Given the description of an element on the screen output the (x, y) to click on. 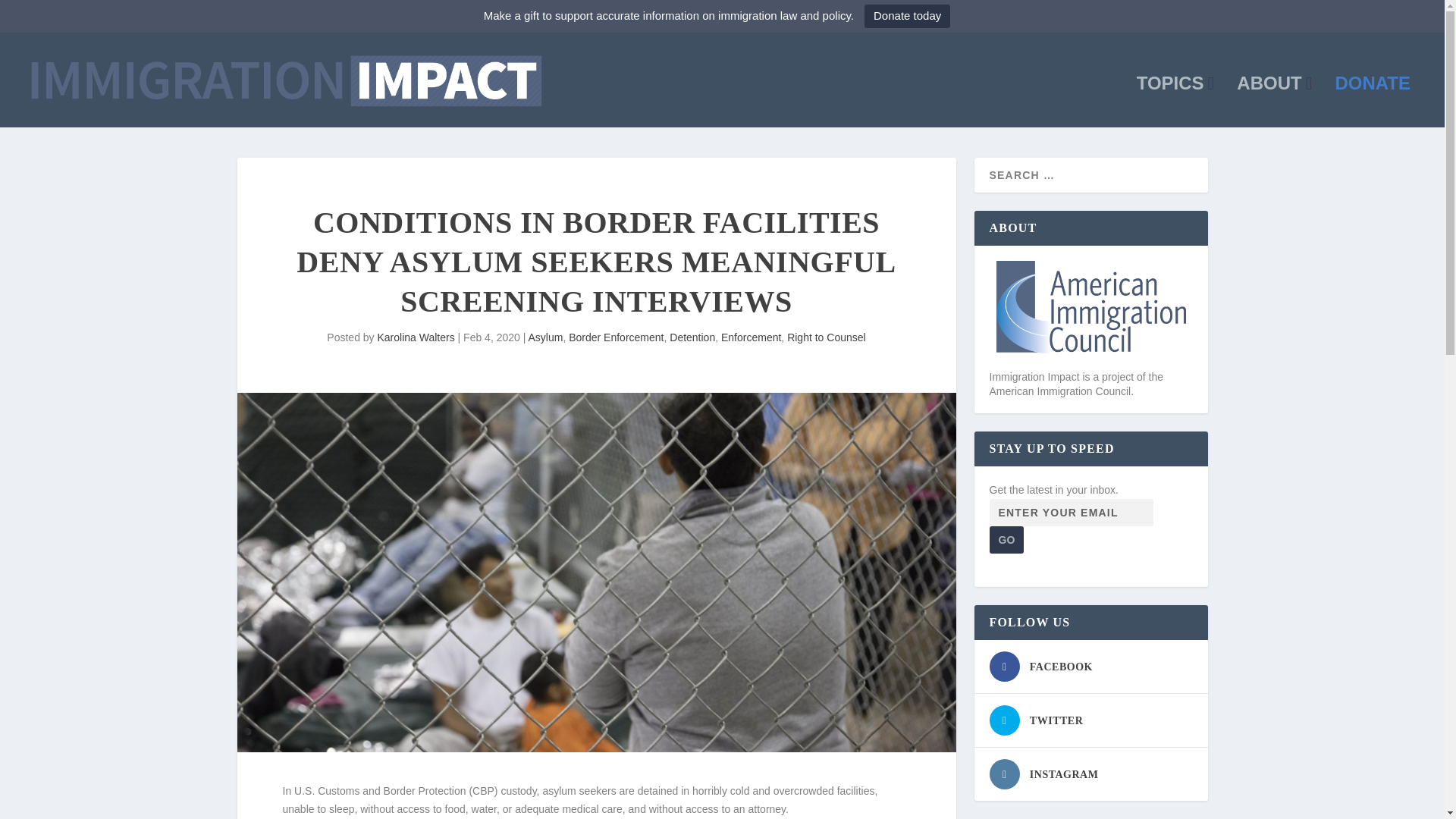
Posts by Karolina Walters (415, 337)
Asylum (544, 337)
Detention (691, 337)
TOPICS (1175, 101)
Enforcement (750, 337)
ABOUT (1273, 101)
Donate today (907, 15)
DONATE (1372, 101)
Right to Counsel (826, 337)
GO (1005, 539)
Border Enforcement (616, 337)
Karolina Walters (415, 337)
